Given the description of an element on the screen output the (x, y) to click on. 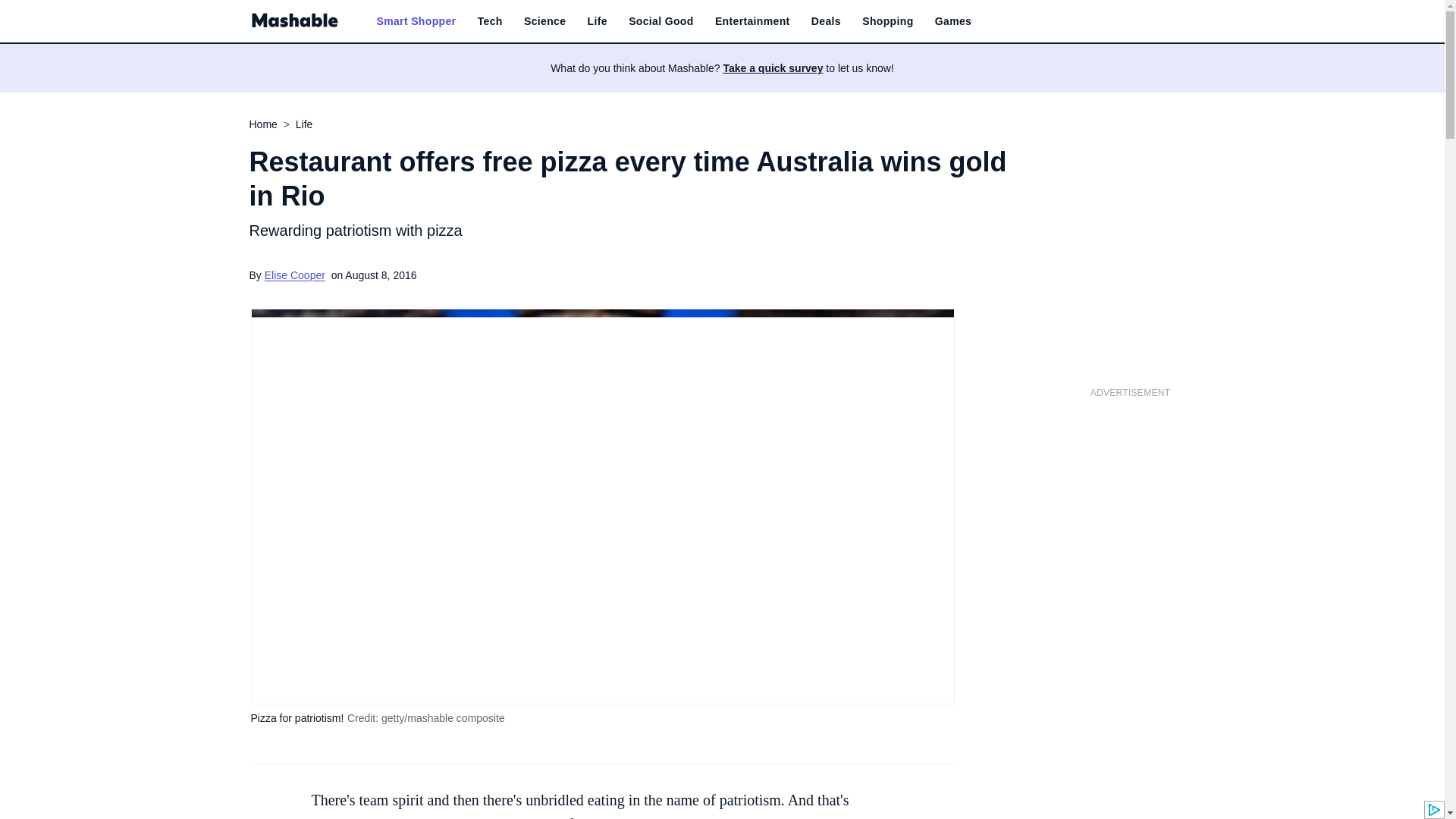
Tech (489, 21)
Games (952, 21)
Smart Shopper (415, 21)
Life (597, 21)
Shopping (886, 21)
Deals (825, 21)
Science (545, 21)
Entertainment (752, 21)
Social Good (661, 21)
